Given the description of an element on the screen output the (x, y) to click on. 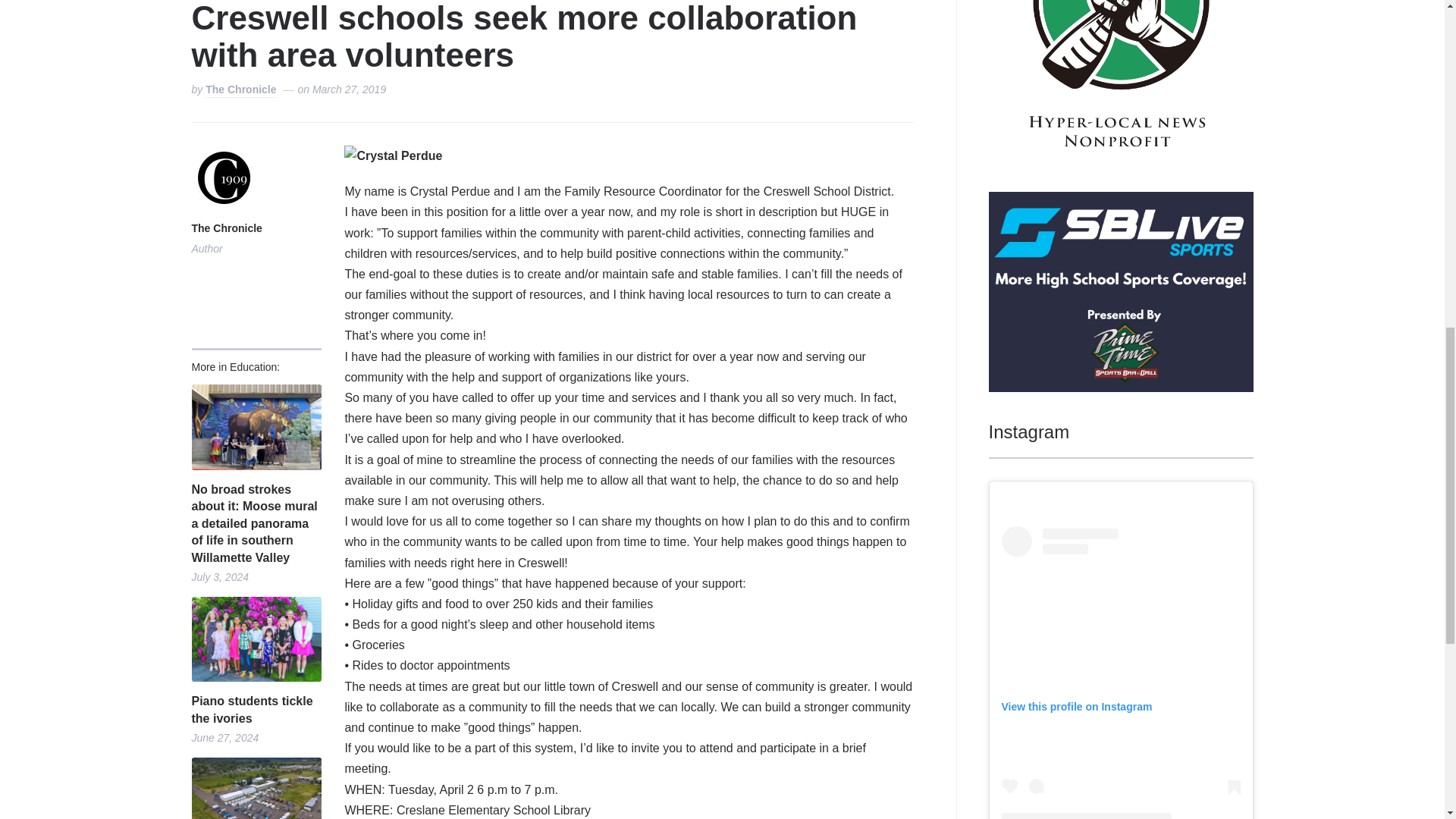
Posts by The Chronicle (240, 90)
Posts by The Chronicle (226, 229)
